Given the description of an element on the screen output the (x, y) to click on. 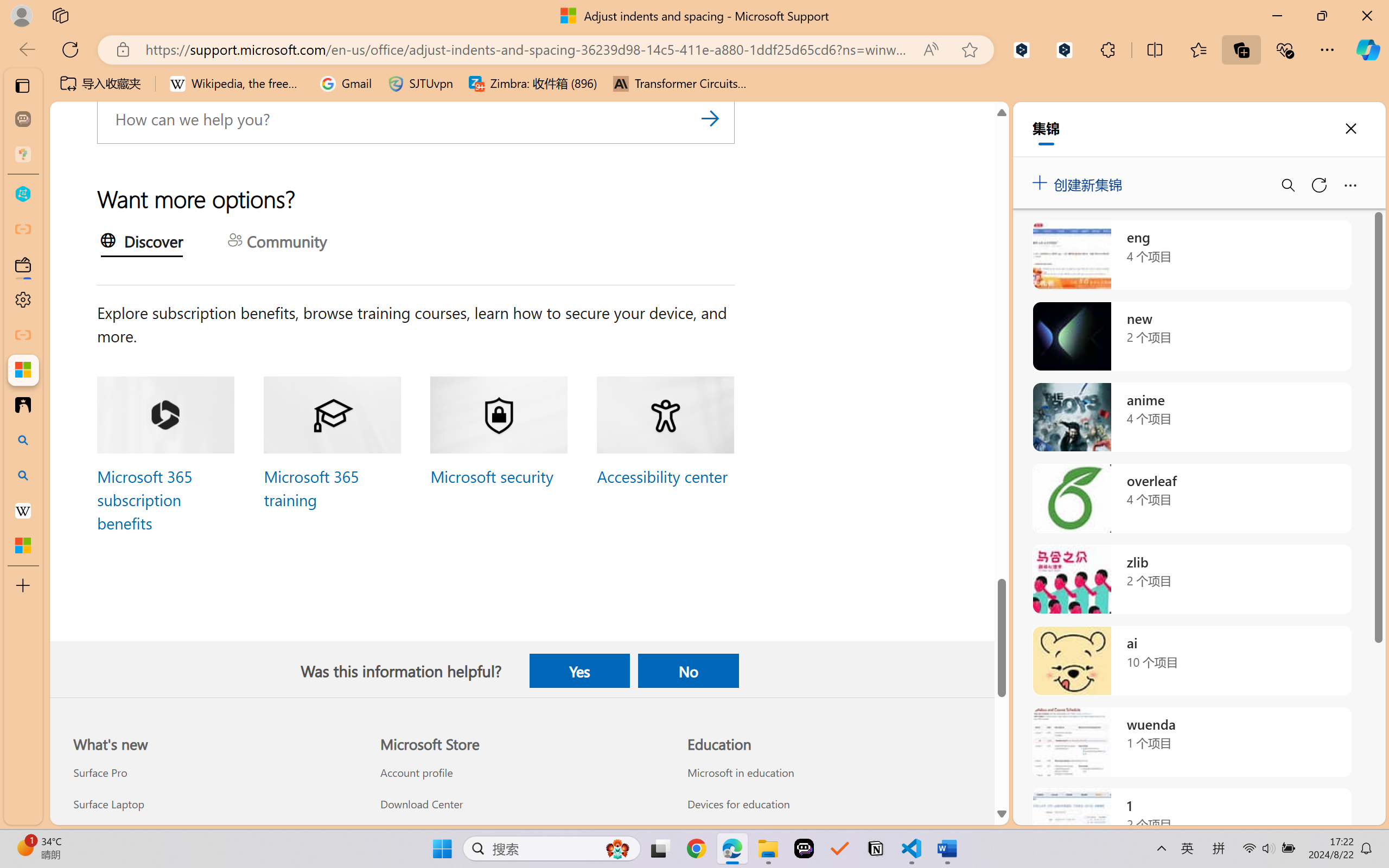
Adjust indents and spacing - Microsoft Support (22, 369)
Devices for education Education (737, 803)
Search (709, 118)
Discover (141, 243)
Account profile Microsoft Store (415, 772)
